Given the description of an element on the screen output the (x, y) to click on. 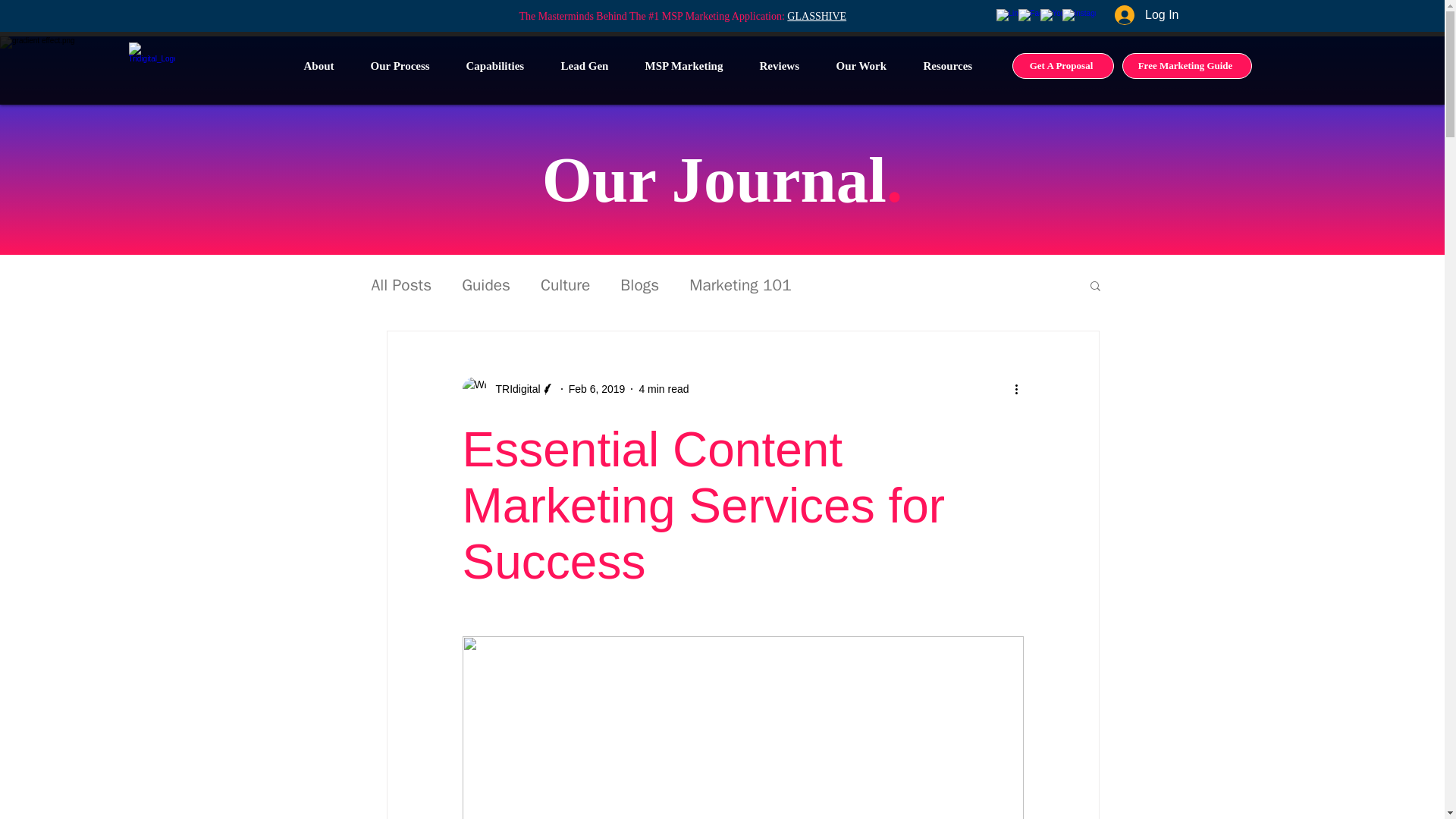
Free Marketing Guide (1187, 65)
Blogs (639, 284)
Our Process (406, 65)
TRIdigital (508, 388)
TRIdigital (513, 388)
Feb 6, 2019 (597, 387)
Capabilities (502, 65)
All Posts (401, 284)
Marketing 101 (740, 284)
4 min read (663, 387)
